Given the description of an element on the screen output the (x, y) to click on. 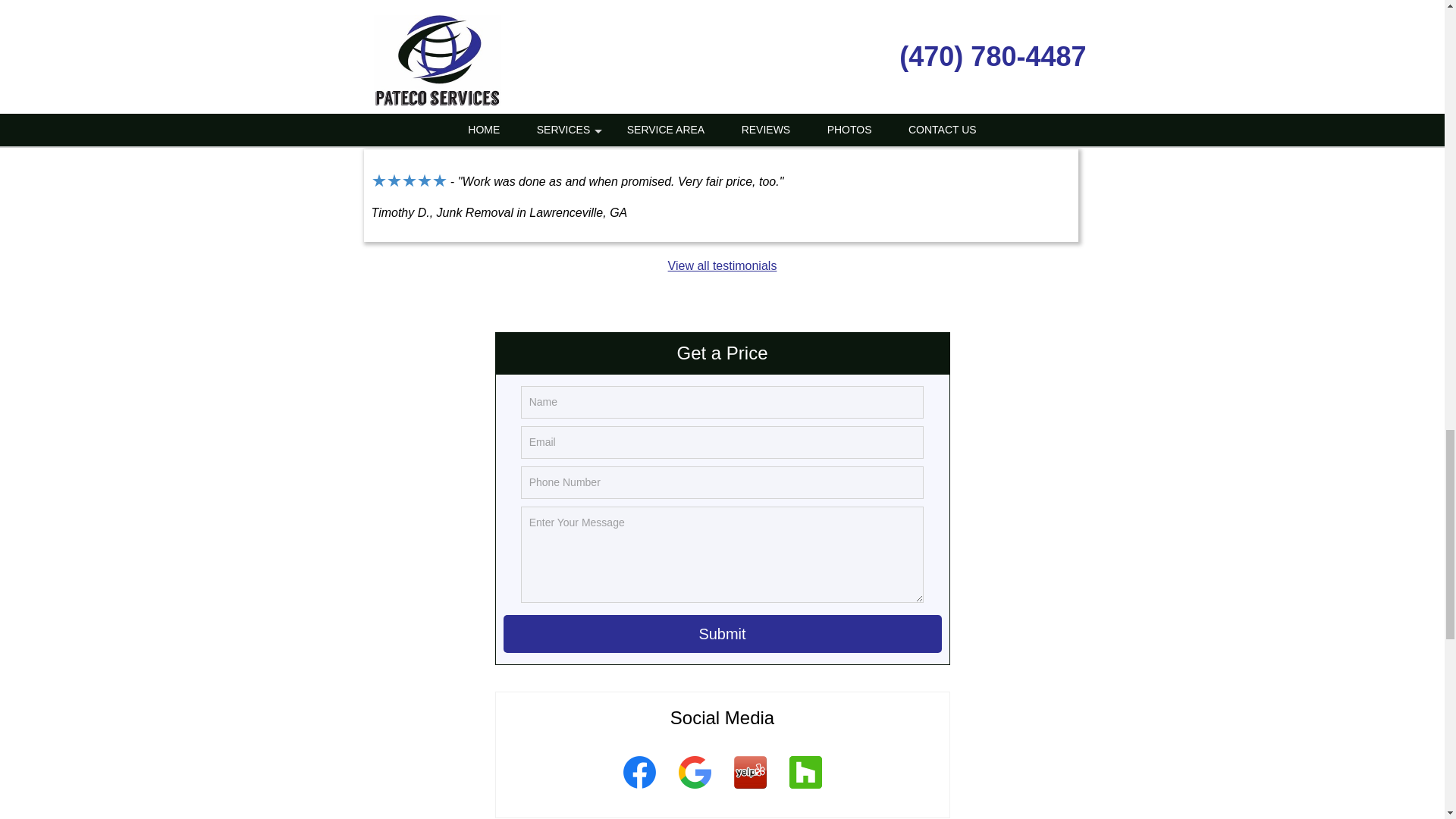
Google (694, 790)
Houzz (804, 790)
Submit (722, 633)
Yelp (749, 790)
Facebook (638, 790)
View all testimonials (722, 265)
